Given the description of an element on the screen output the (x, y) to click on. 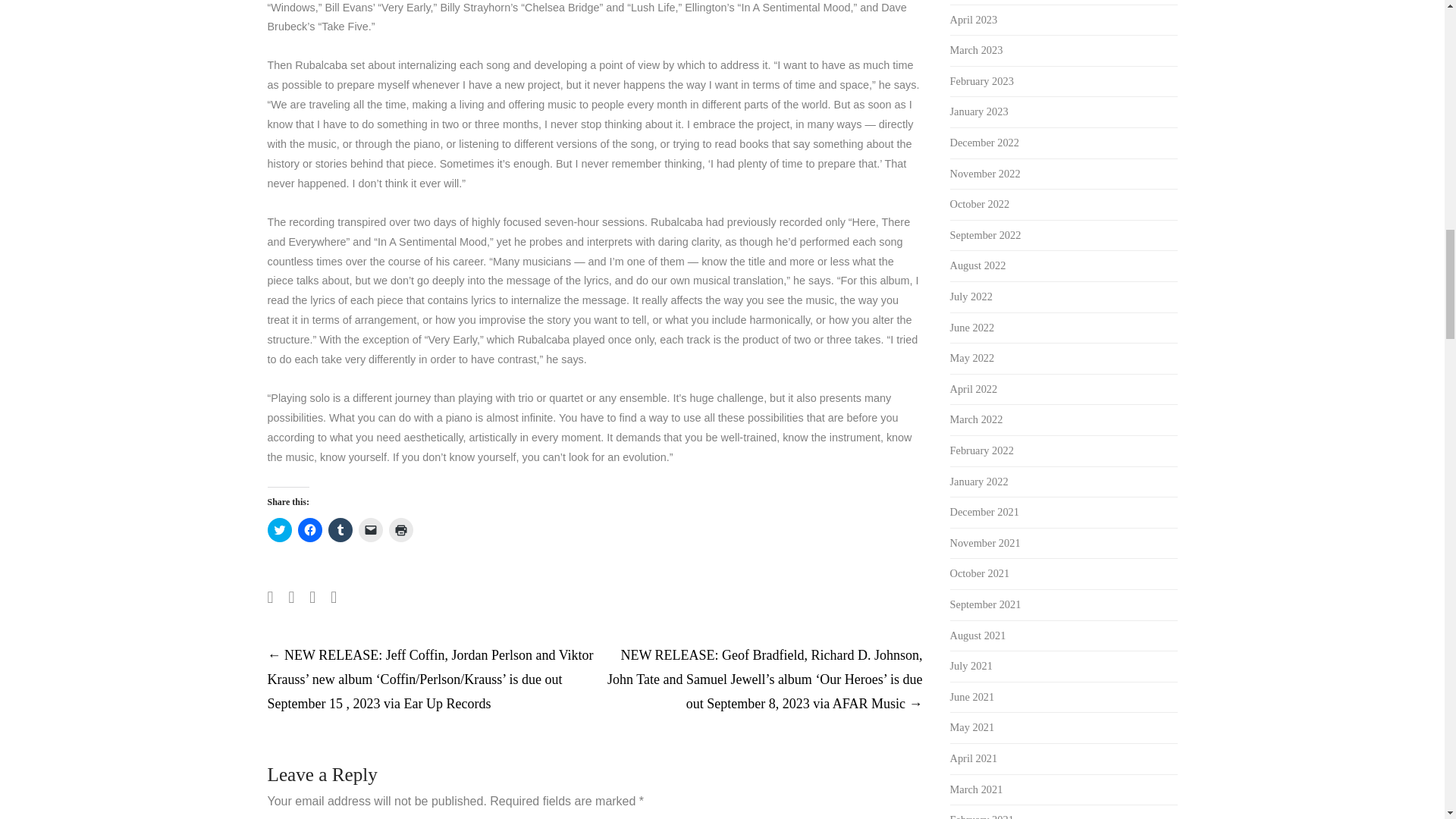
Click to email a link to a friend (369, 529)
Click to share on Tumblr (339, 529)
Click to share on Twitter (278, 529)
Share on Twitter (291, 597)
Click to share on Facebook (309, 529)
Share on Facebook (269, 597)
Click to print (400, 529)
